Given the description of an element on the screen output the (x, y) to click on. 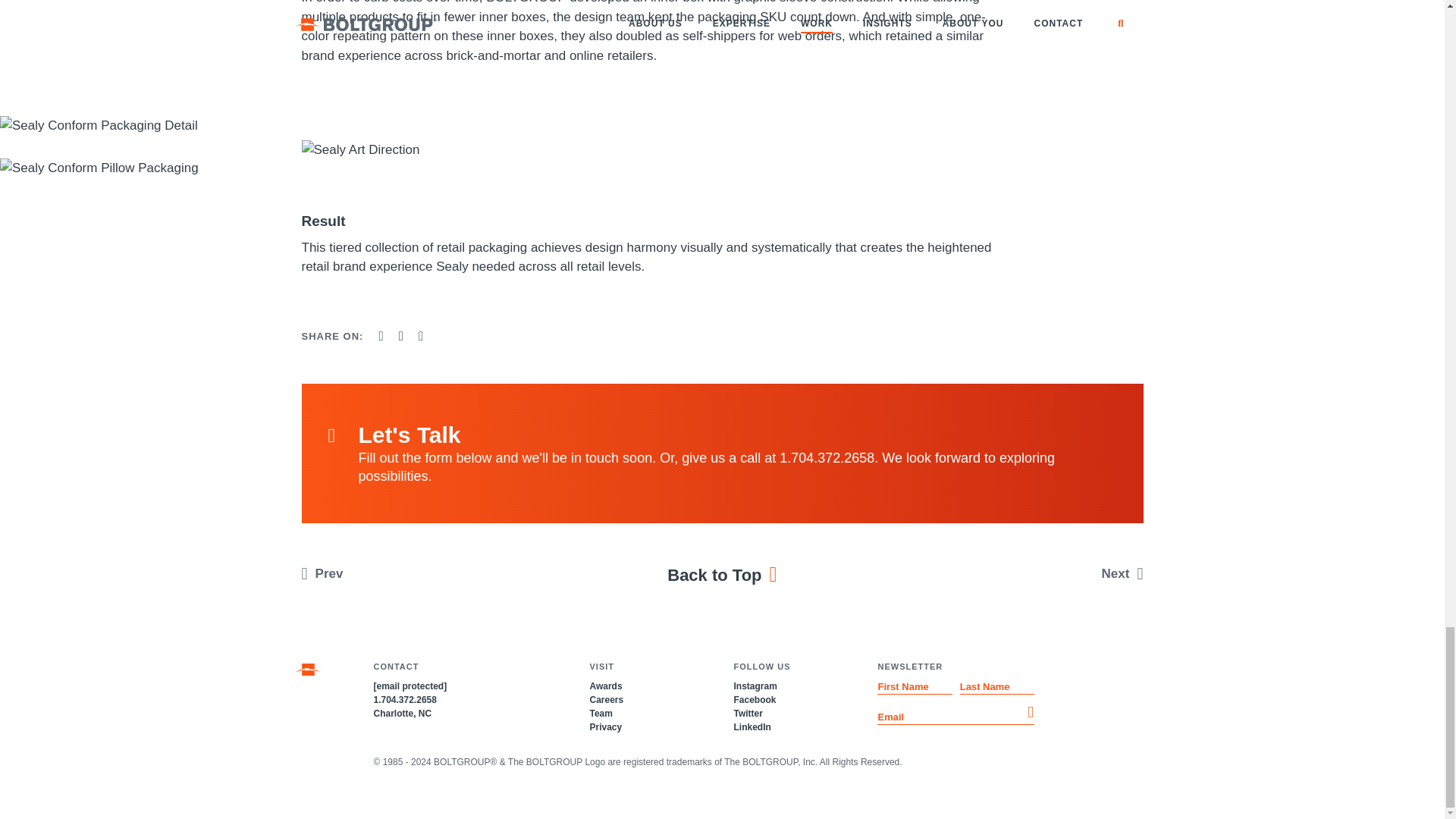
Facebook (754, 699)
Prev (398, 573)
Careers (606, 699)
Next (1045, 573)
1.704.372.2658 (403, 699)
Awards (605, 685)
Privacy (605, 726)
Instagram (754, 685)
LinkedIn (751, 726)
Team (600, 713)
Twitter (747, 713)
